Given the description of an element on the screen output the (x, y) to click on. 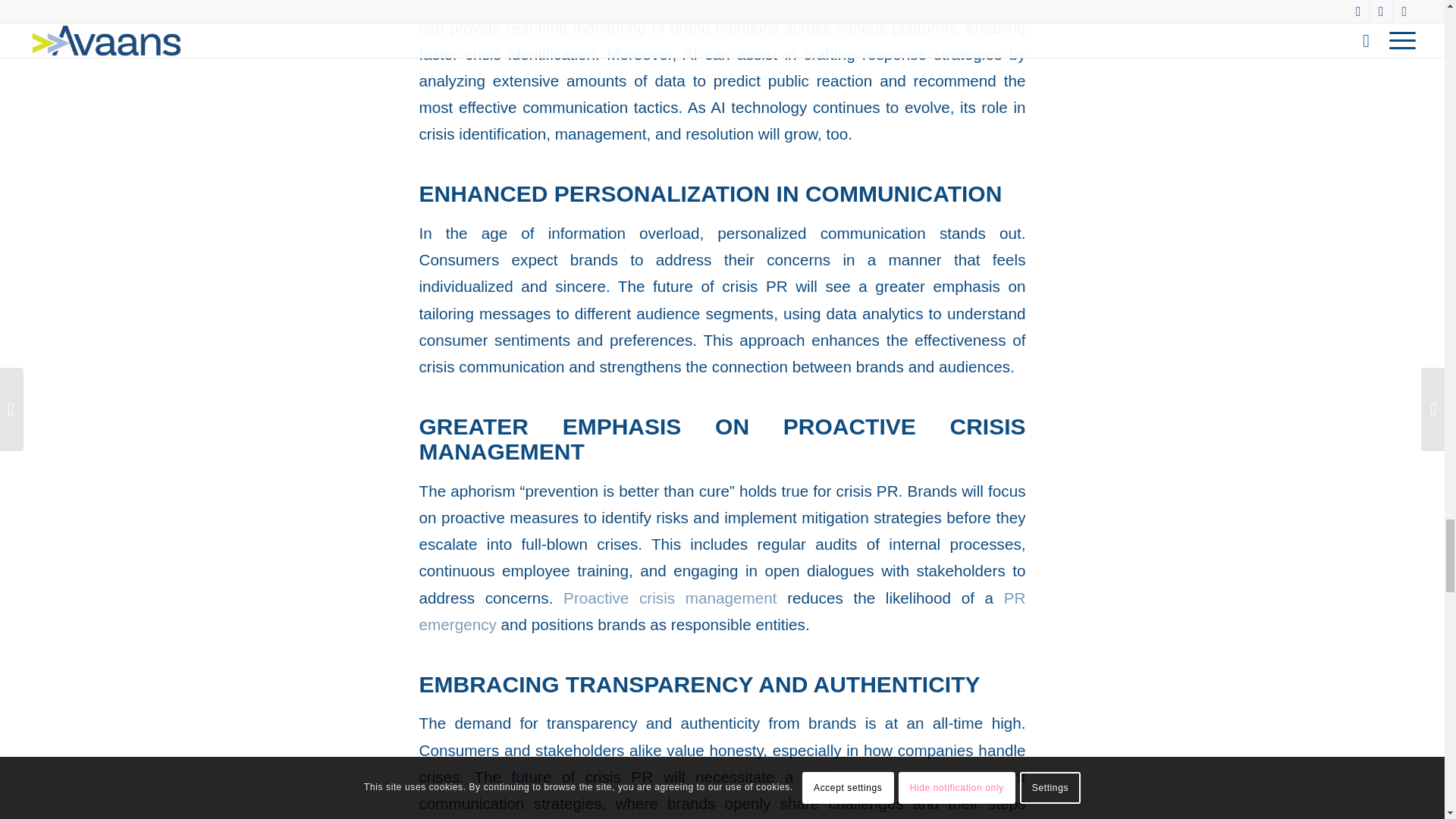
PR emergency (722, 610)
Proactive crisis management (669, 597)
